Given the description of an element on the screen output the (x, y) to click on. 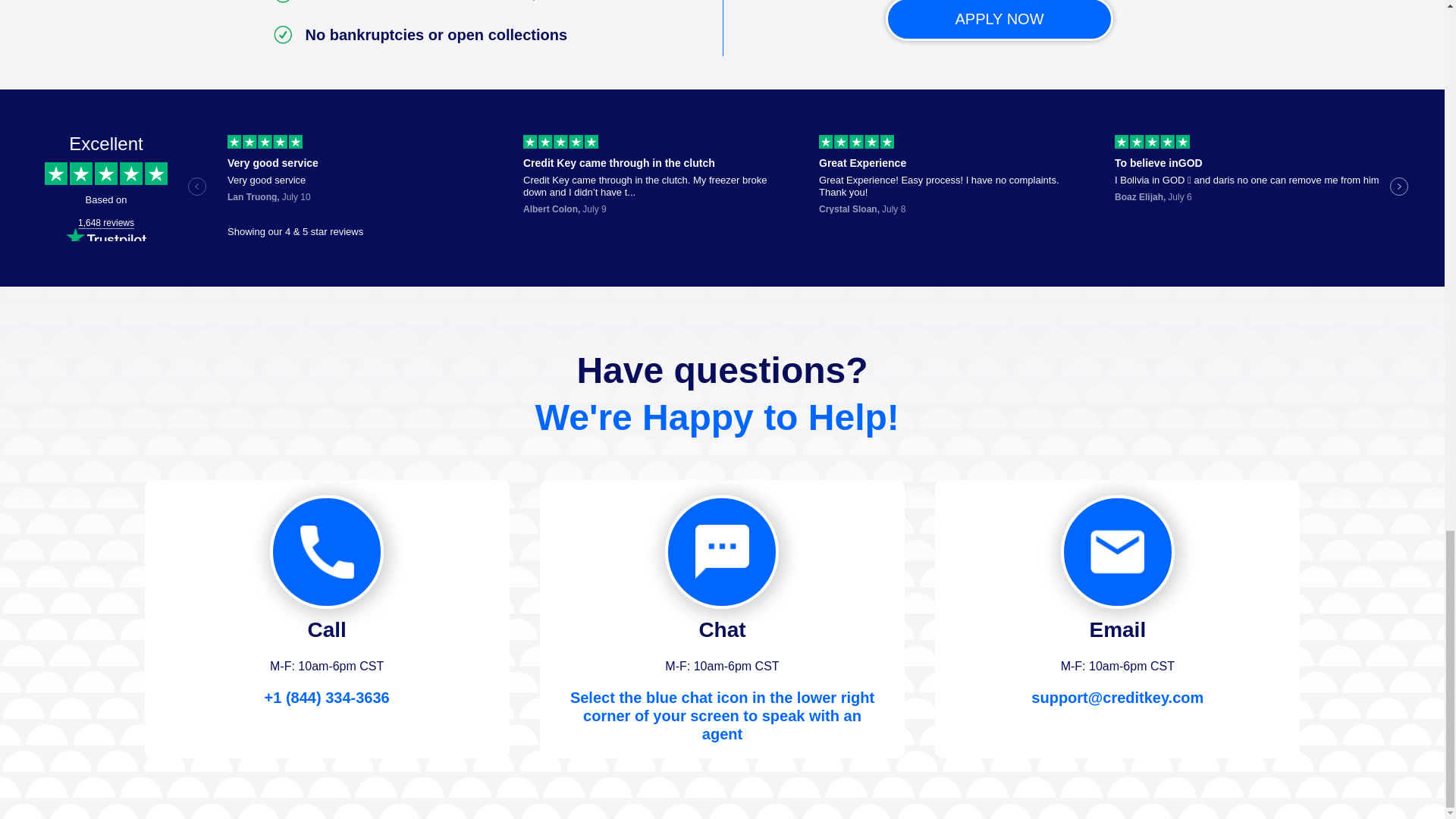
APPLY NOW (999, 18)
